Given the description of an element on the screen output the (x, y) to click on. 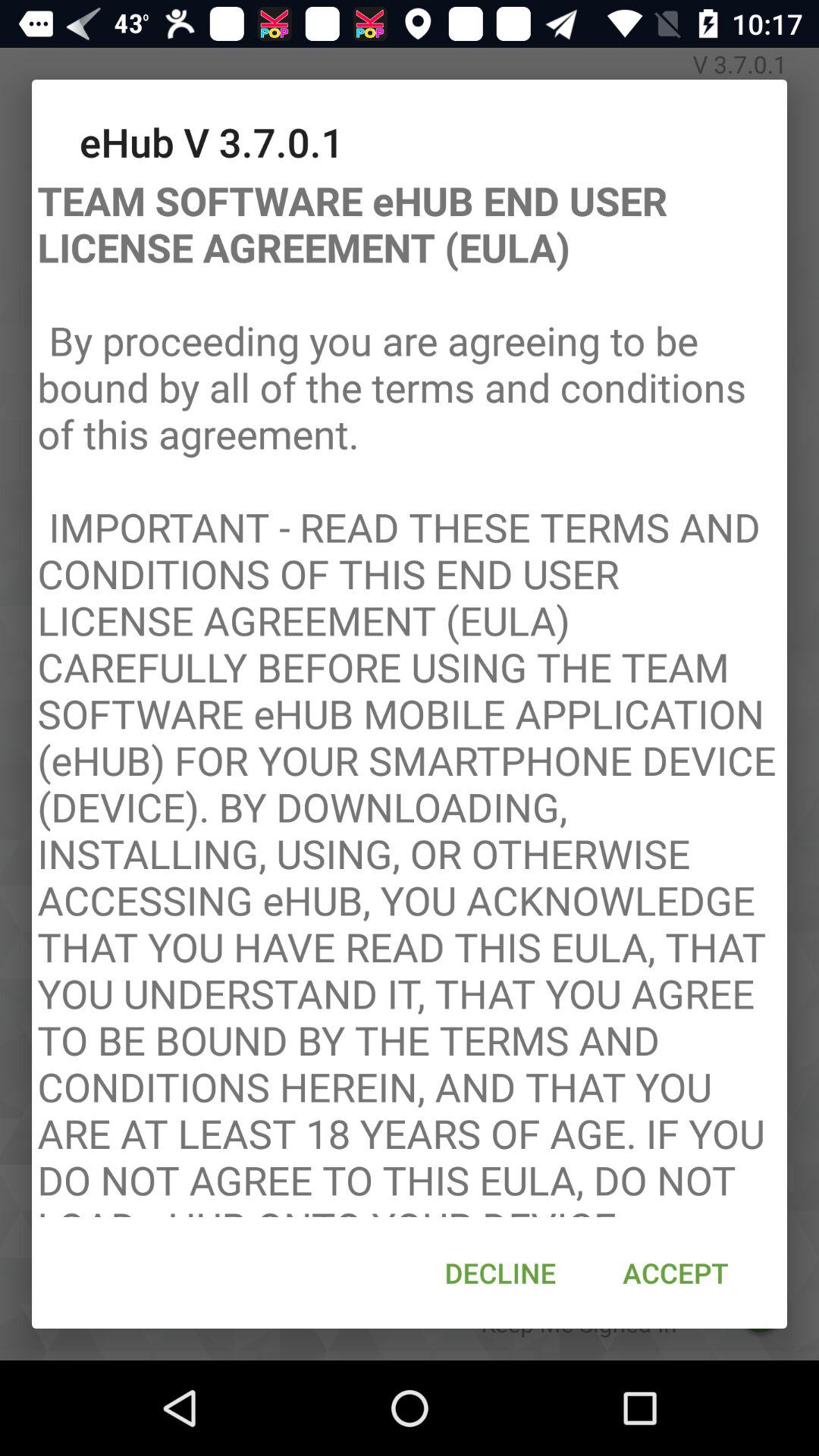
launch the item below ehub v 3 (409, 692)
